Given the description of an element on the screen output the (x, y) to click on. 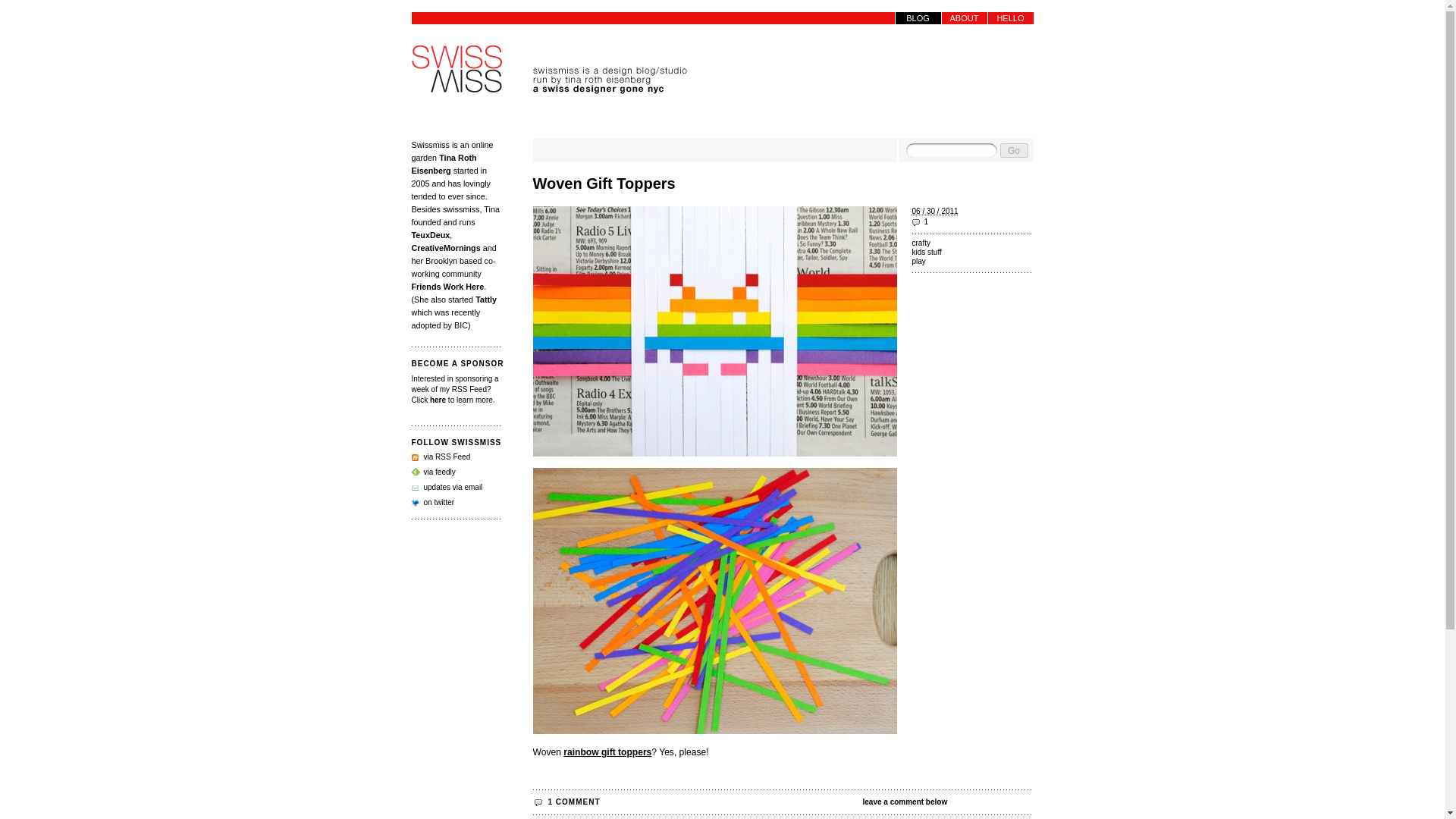
HELLO (1009, 18)
CreativeMornings (445, 247)
Tattly (486, 298)
Tina Roth Eisenberg (443, 164)
1 (971, 222)
2011-06-30T13:48:35-0400 (934, 211)
BLOG (917, 18)
play (971, 261)
Friends Work Here (446, 286)
via feedly (432, 471)
leave a comment below (948, 801)
TeuxDeux (429, 234)
Go (1012, 150)
swissmiss (456, 69)
woven-space-invaders-8 (714, 331)
